Given the description of an element on the screen output the (x, y) to click on. 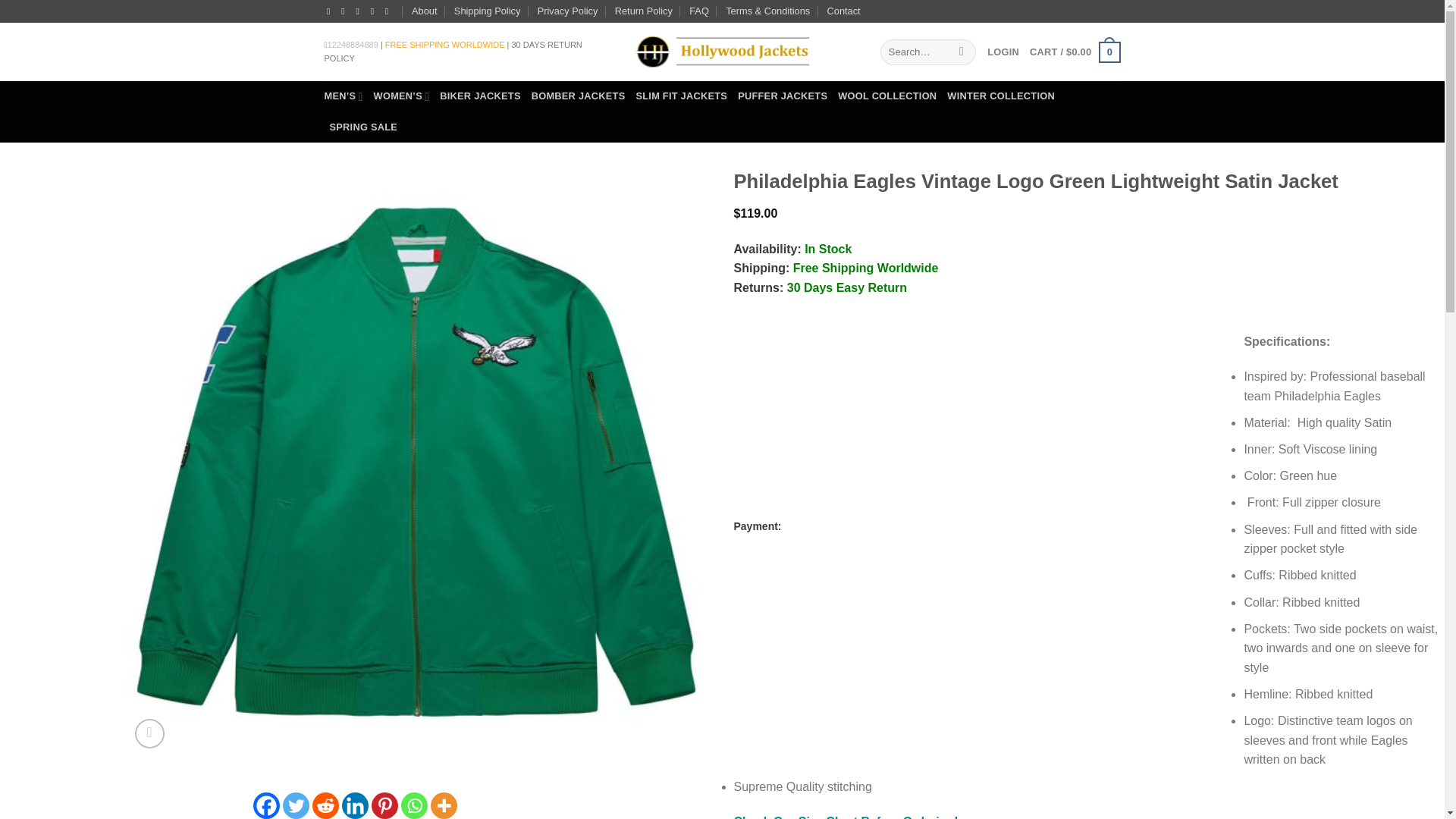
Return Policy (643, 11)
Contact (843, 11)
Search (961, 52)
About (424, 11)
LOGIN (1003, 51)
Shipping Policy (487, 11)
12248884889 (352, 44)
Privacy Policy (567, 11)
